Given the description of an element on the screen output the (x, y) to click on. 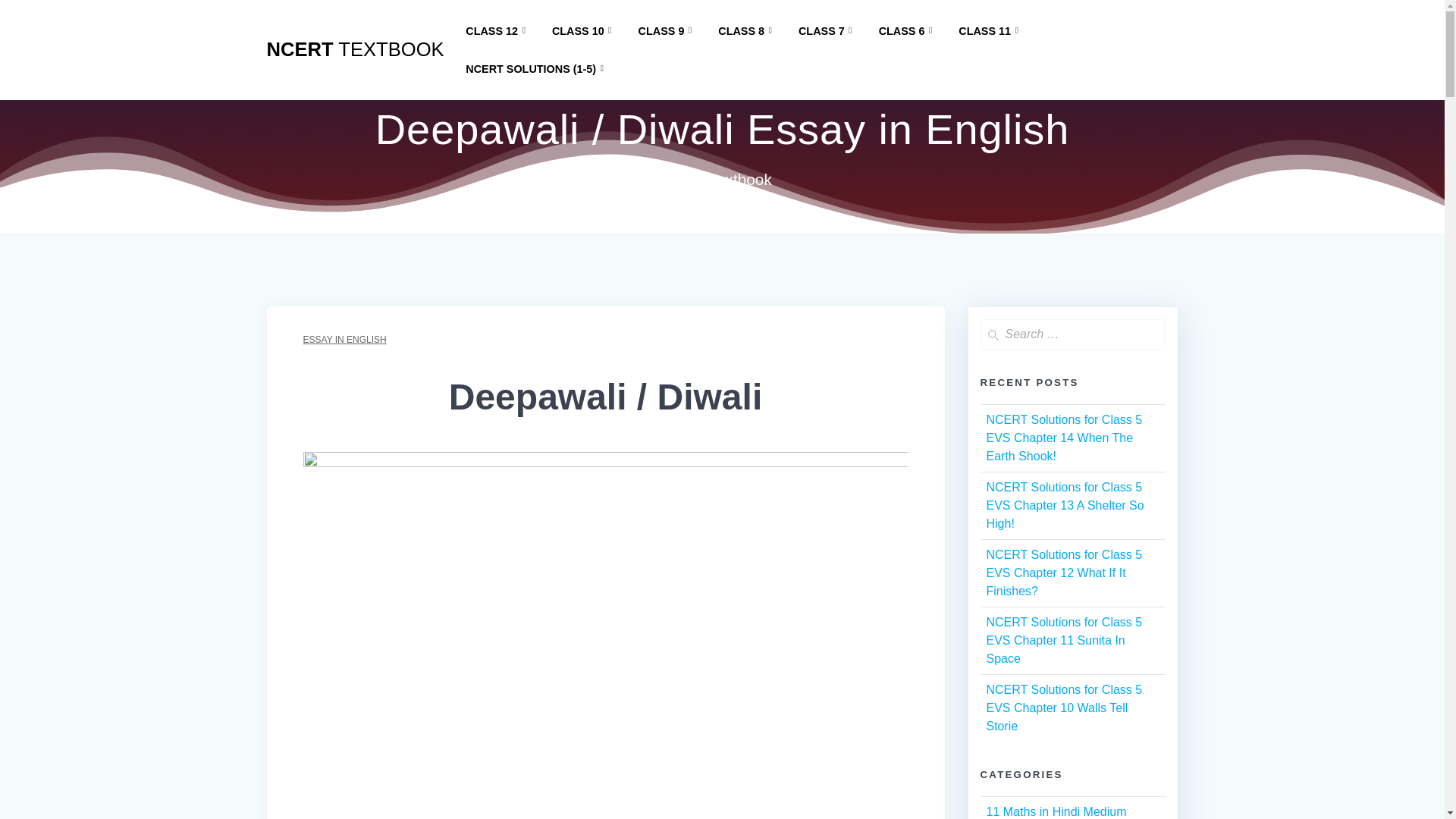
NCERT TEXTBOOK (355, 49)
CLASS 12 (498, 31)
CLASS 10 (584, 31)
